Given the description of an element on the screen output the (x, y) to click on. 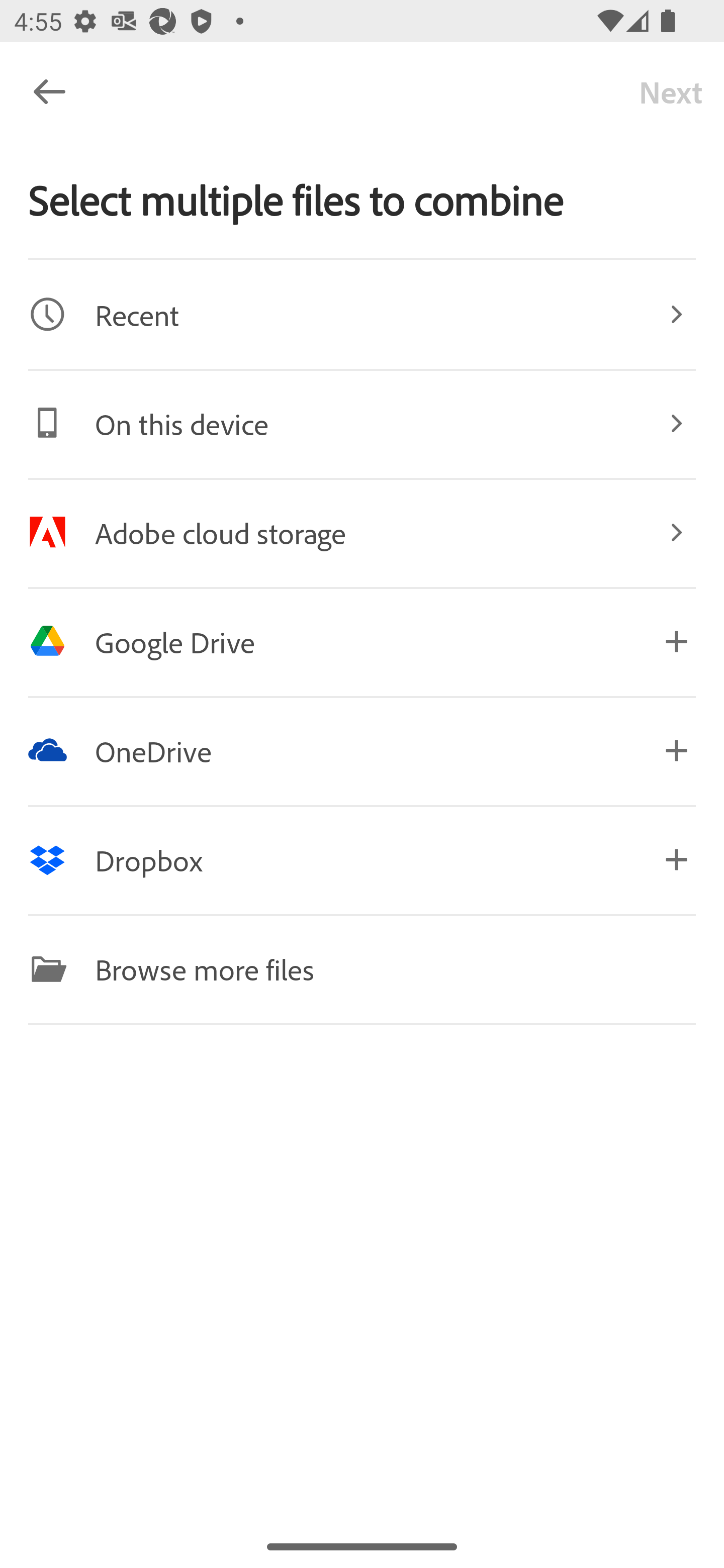
Navigate up (49, 91)
Image Recent (362, 314)
Image On this device (362, 423)
Image Adobe cloud storage (362, 532)
Image Google Drive (362, 641)
Image OneDrive (362, 750)
Image Dropbox (362, 859)
Image Browse more files (362, 968)
